Given the description of an element on the screen output the (x, y) to click on. 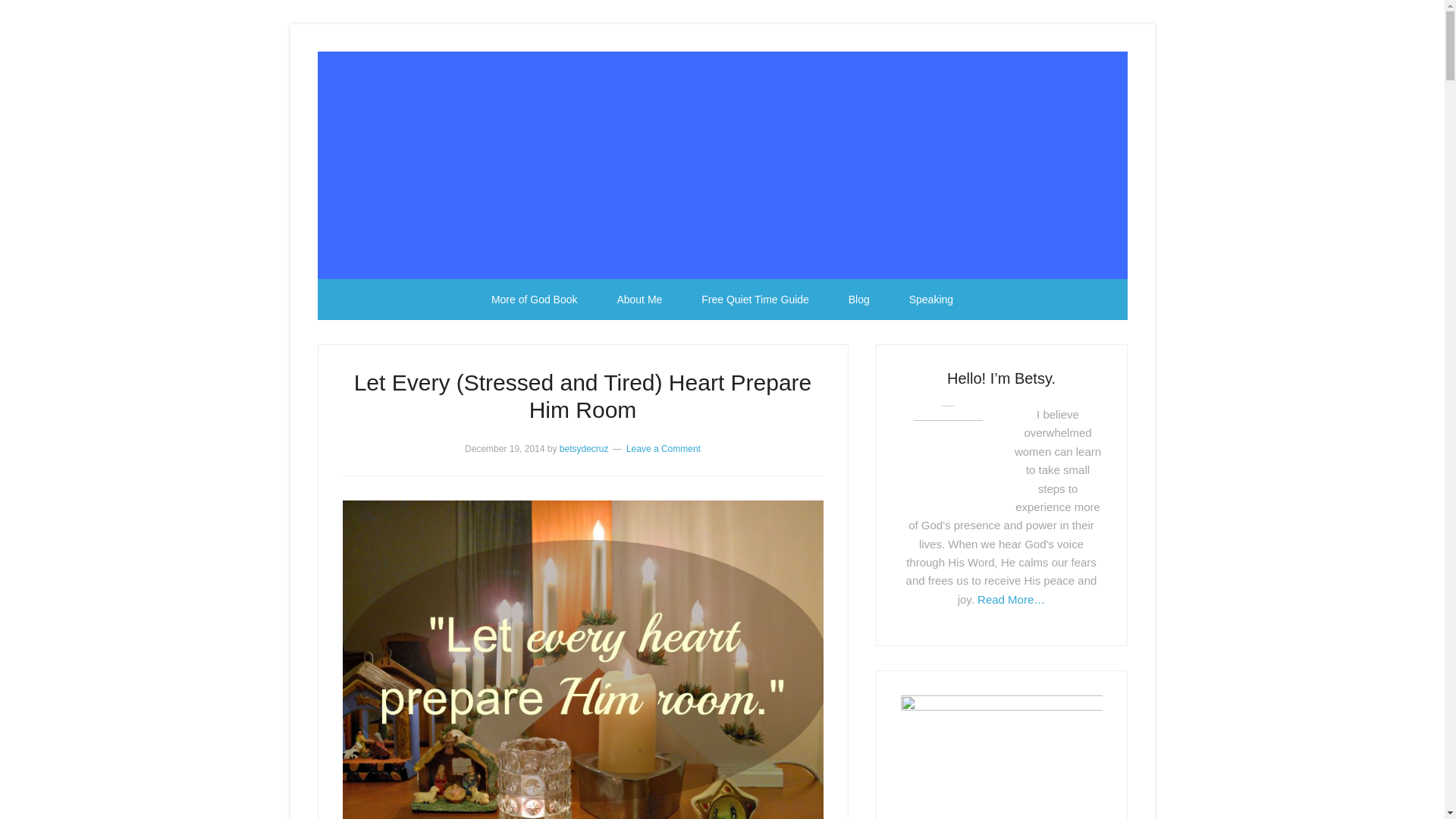
betsydecruz (583, 448)
Free Quiet Time Guide (754, 299)
Leave a Comment (663, 448)
Blog (858, 299)
Speaking (931, 299)
About Me (638, 299)
More of God Book (534, 299)
